Given the description of an element on the screen output the (x, y) to click on. 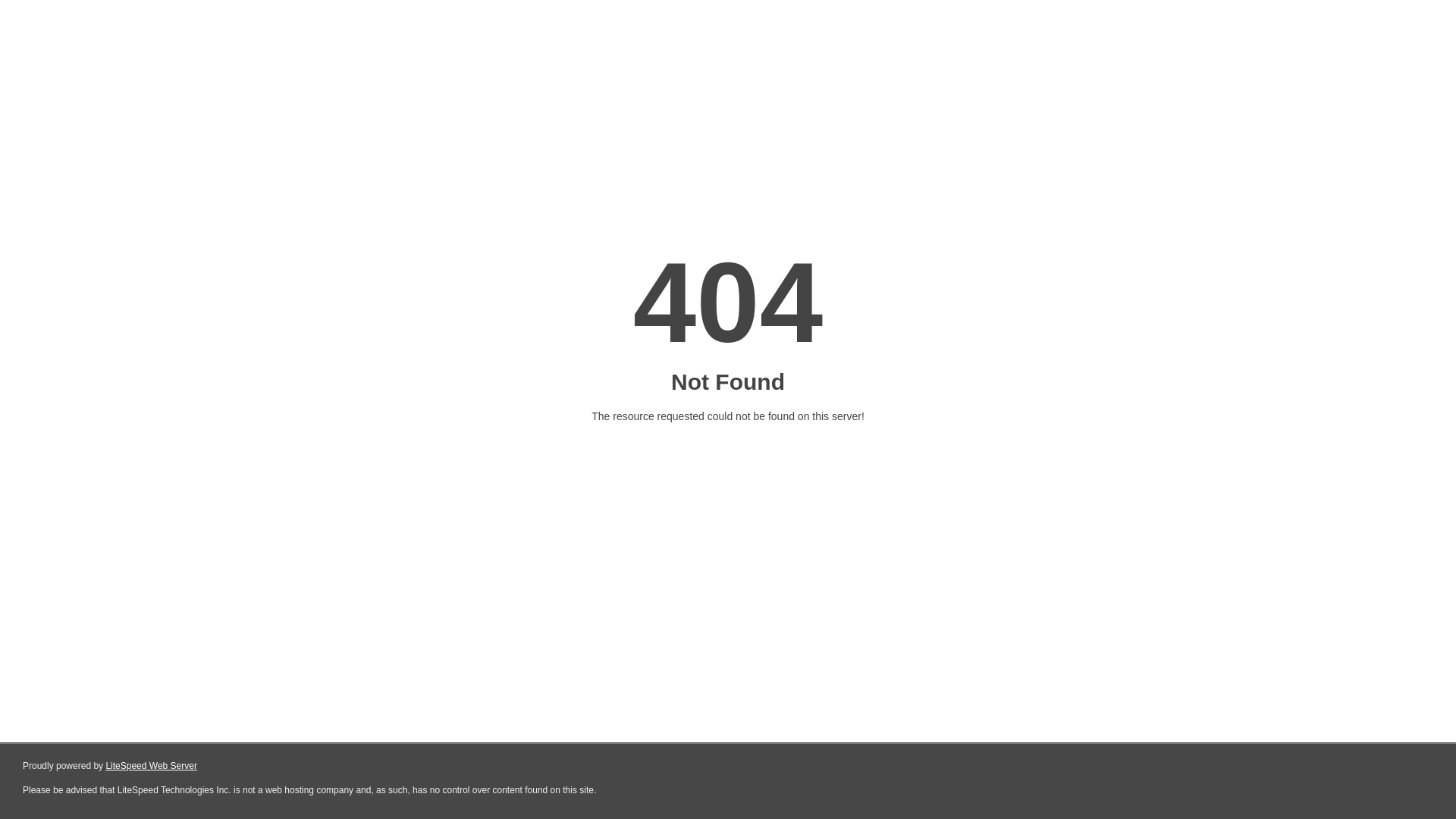
LiteSpeed Web Server Element type: text (151, 765)
